Given the description of an element on the screen output the (x, y) to click on. 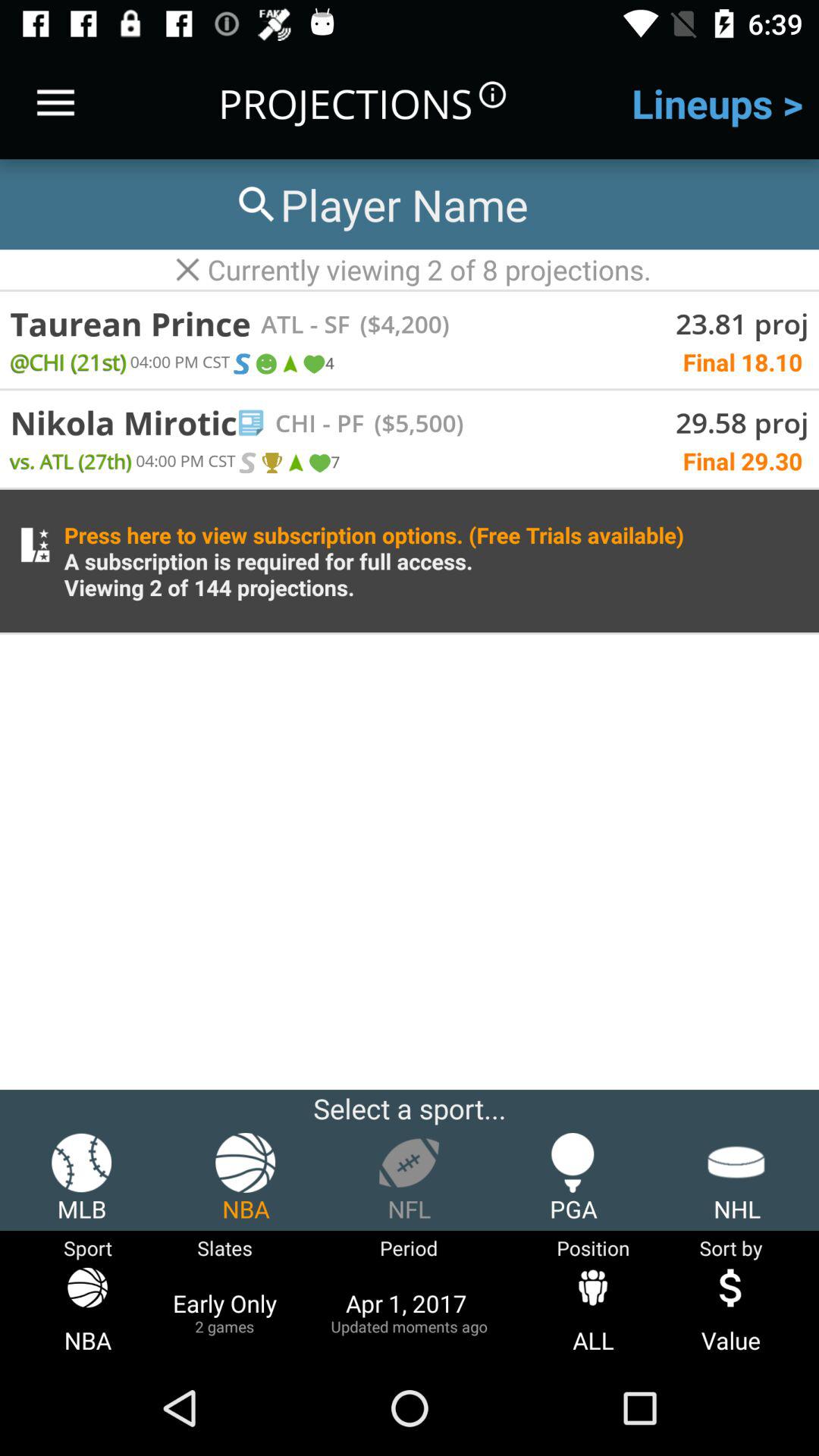
swipe until ($4,200) item (399, 323)
